Given the description of an element on the screen output the (x, y) to click on. 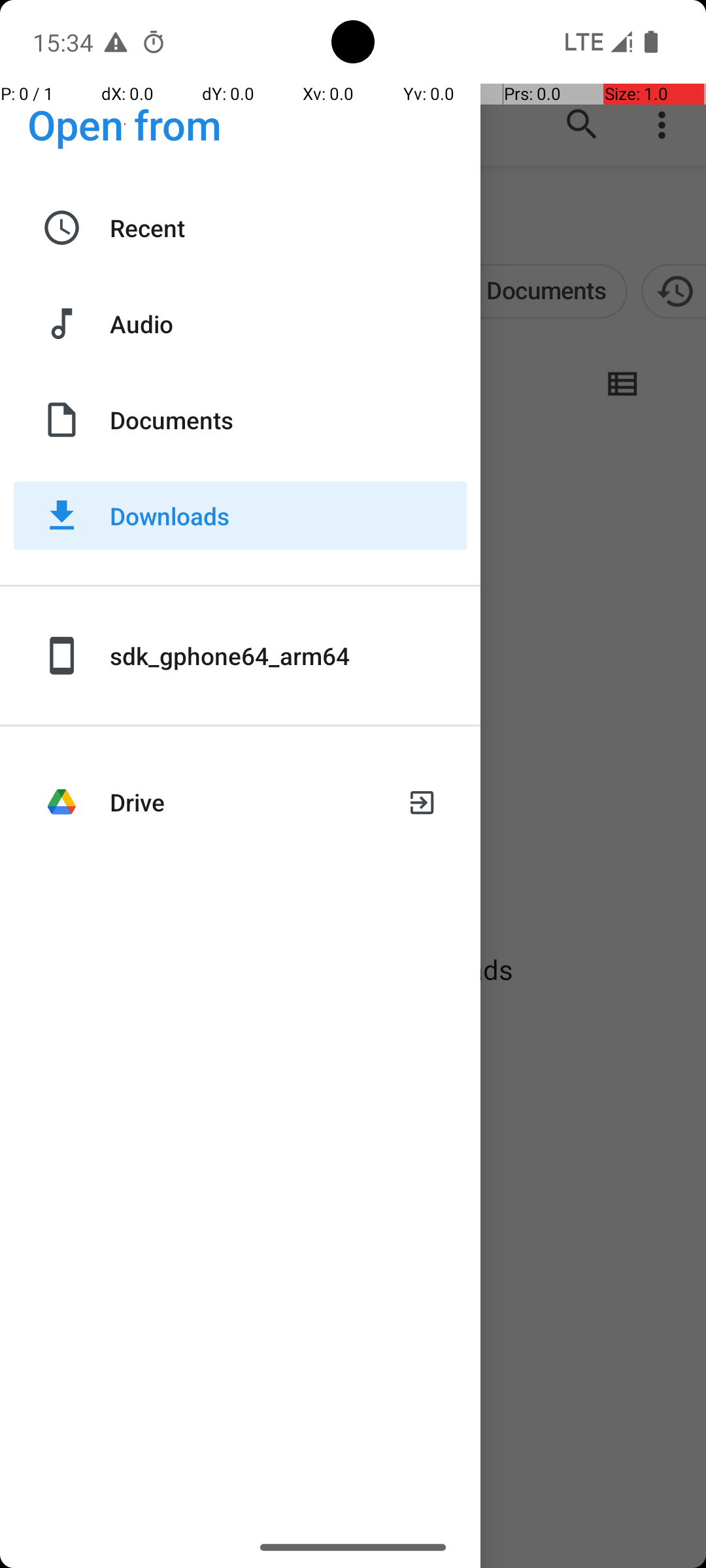
Open from Element type: android.widget.TextView (124, 124)
Drive Element type: android.widget.TextView (246, 801)
